Given the description of an element on the screen output the (x, y) to click on. 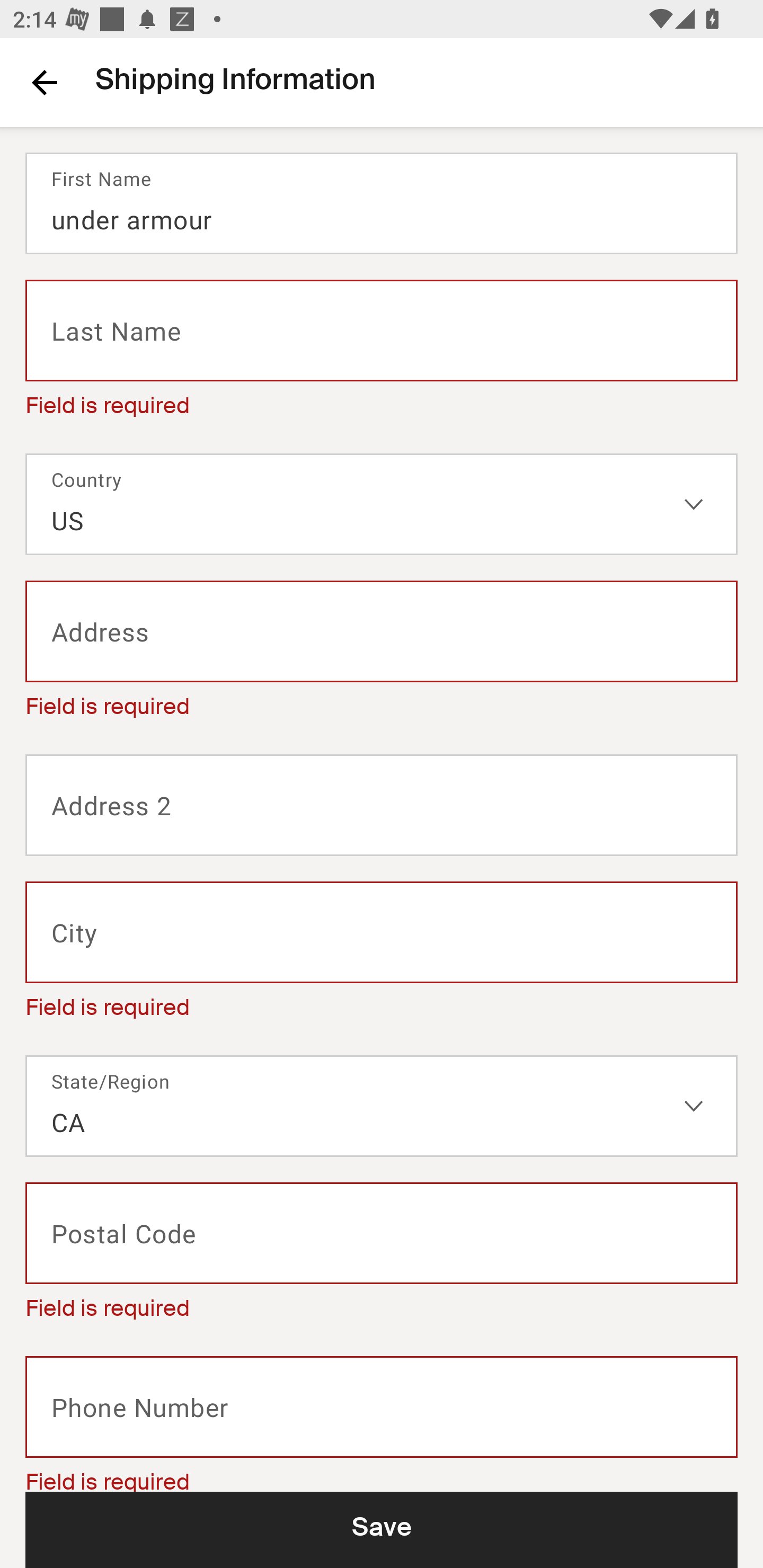
Navigate up (44, 82)
under armour
 First Name (381, 203)
Last Name Field is required (381, 353)
Address Field is required (381, 654)
Address 2 (381, 805)
City Field is required (381, 955)
Postal Code Field is required (381, 1256)
Phone Number Field is required (381, 1423)
Save (381, 1529)
